Given the description of an element on the screen output the (x, y) to click on. 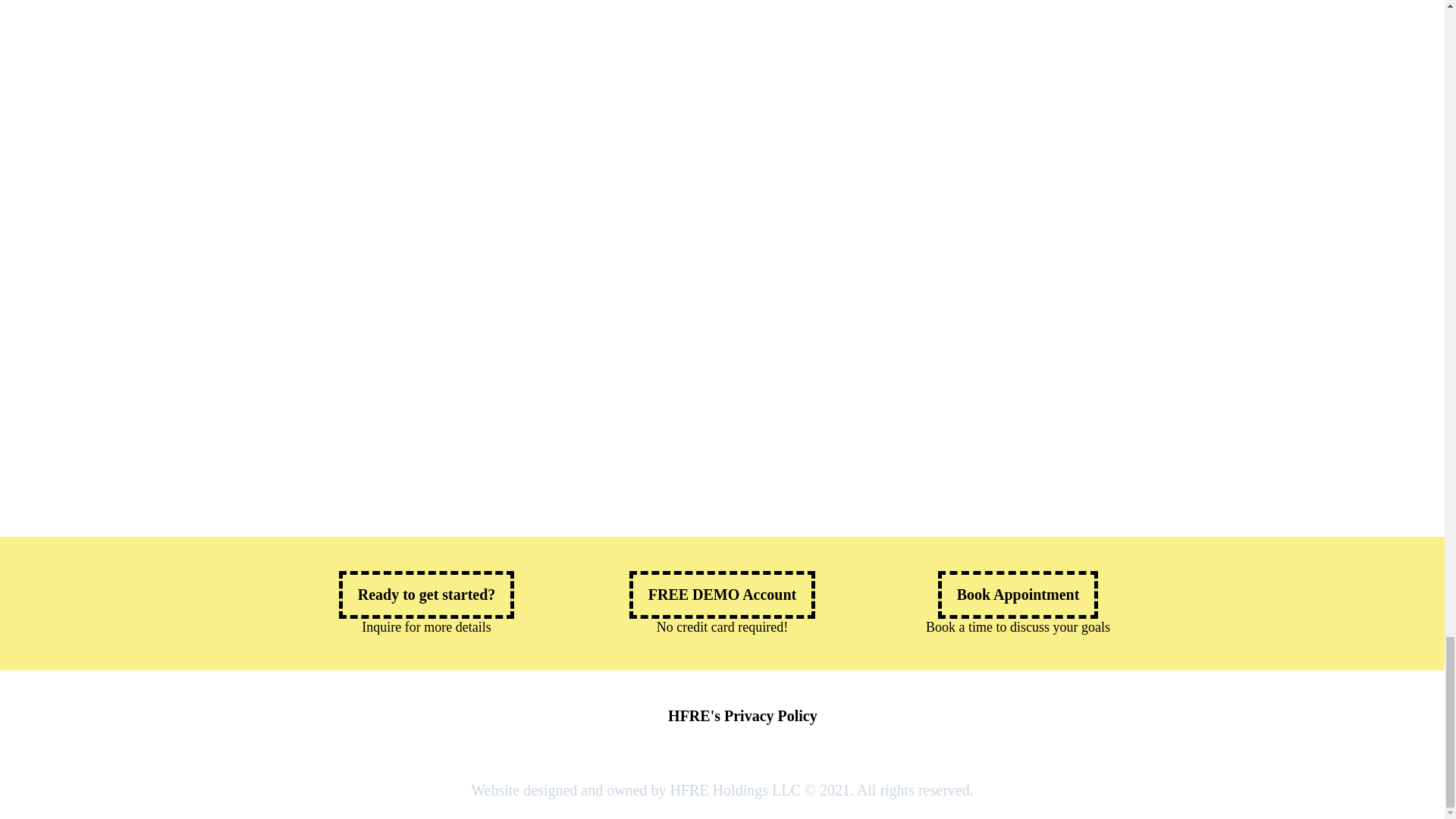
Book Appointment (1018, 594)
HFRE's Privacy Policy (742, 715)
Ready to get started? (427, 594)
FREE DEMO Account (721, 594)
